Given the description of an element on the screen output the (x, y) to click on. 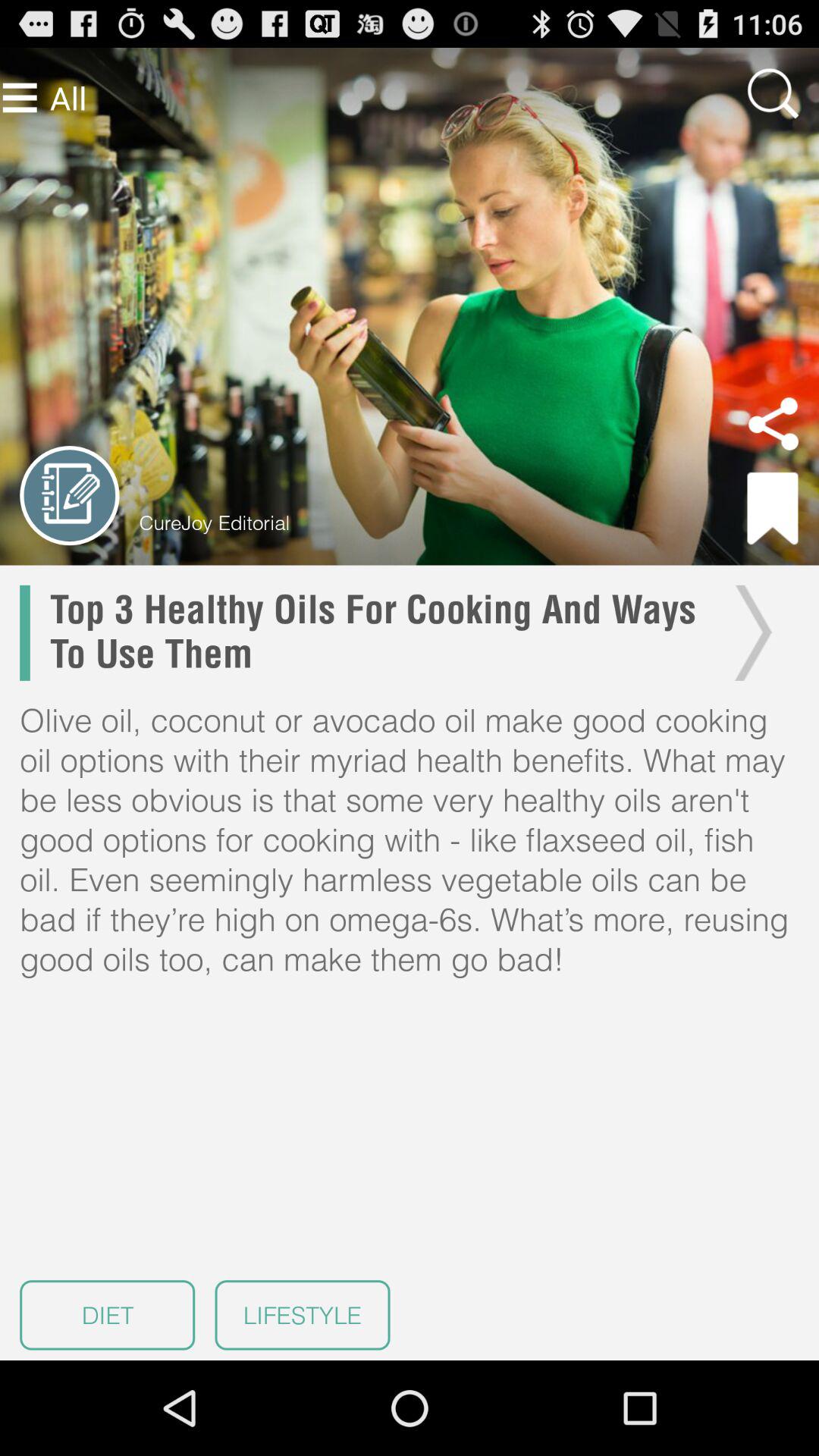
write (69, 495)
